Given the description of an element on the screen output the (x, y) to click on. 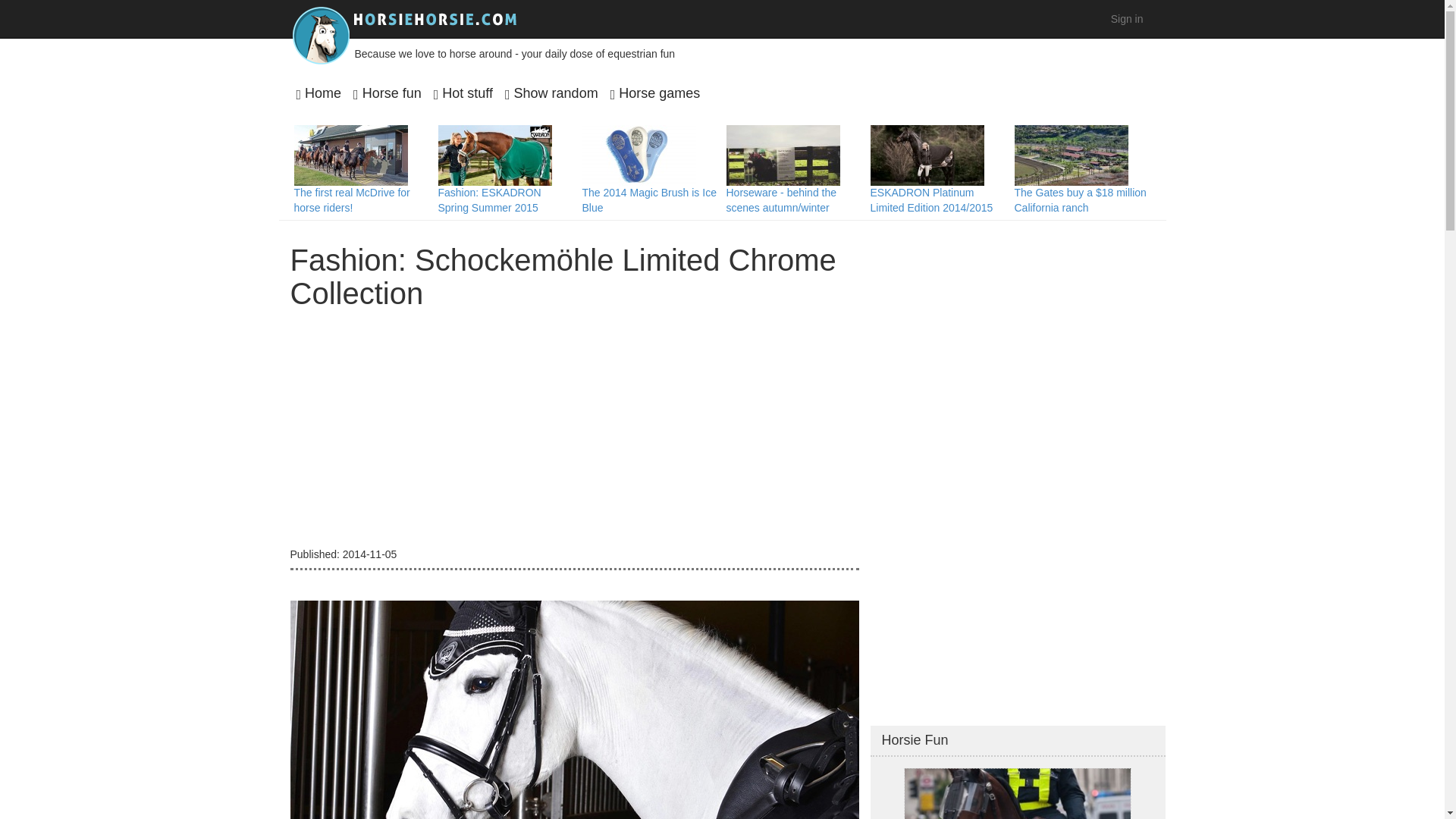
Hot stuff (463, 92)
Sign in (1126, 18)
Fashion: ESKADRON Spring Summer 2015 (489, 199)
The 2014 Magic Brush is Ice Blue (649, 199)
Advertisement (574, 431)
Fashion: ESKADRON Spring Summer 2015 (494, 155)
Horse games (655, 92)
Show random (551, 92)
The 2014 Magic Brush is Ice Blue (638, 155)
Fashion: ESKADRON Spring Summer 2015 (489, 199)
